Given the description of an element on the screen output the (x, y) to click on. 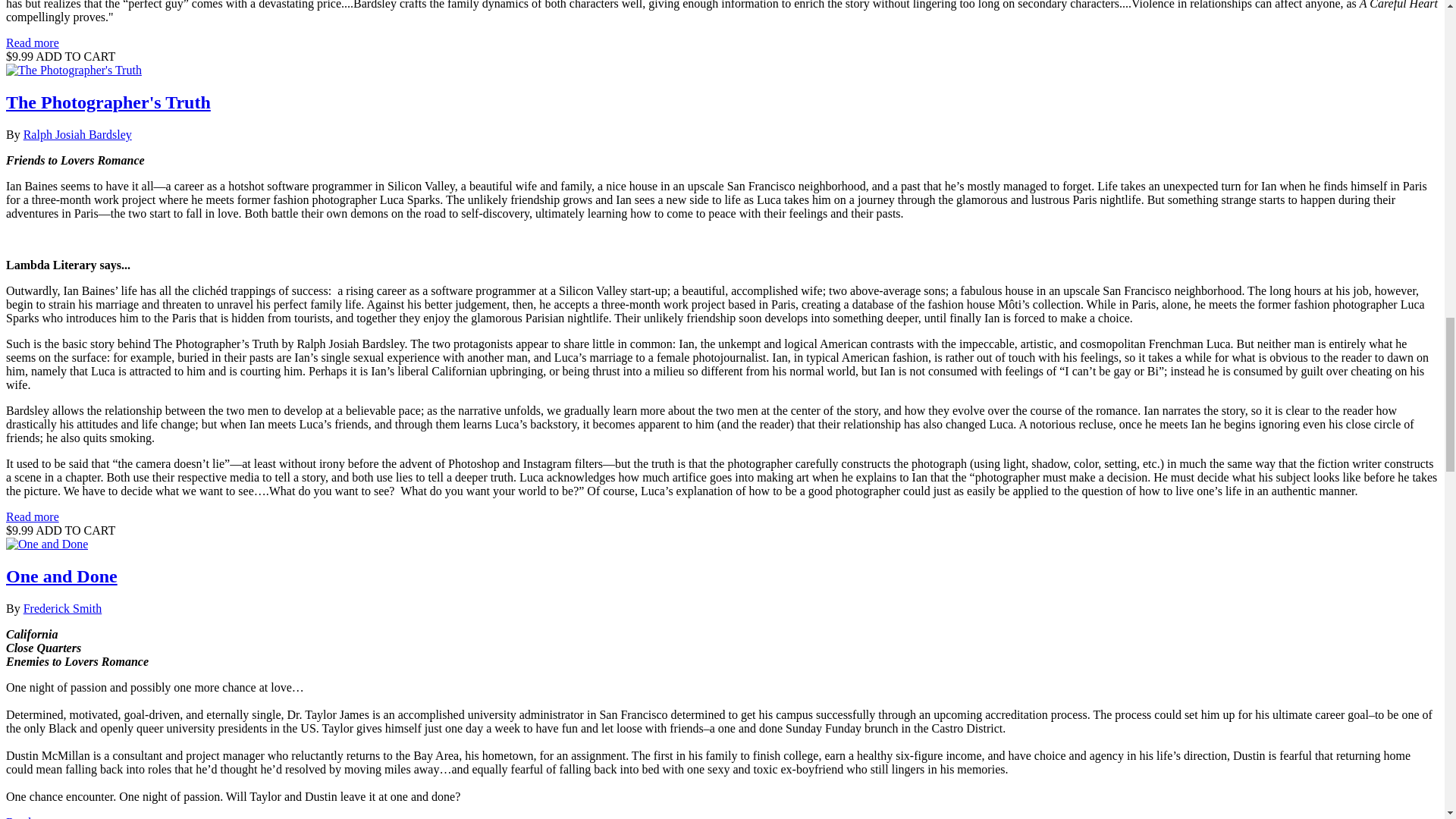
ADD TO CART (74, 530)
ADD TO CART (74, 56)
